Given the description of an element on the screen output the (x, y) to click on. 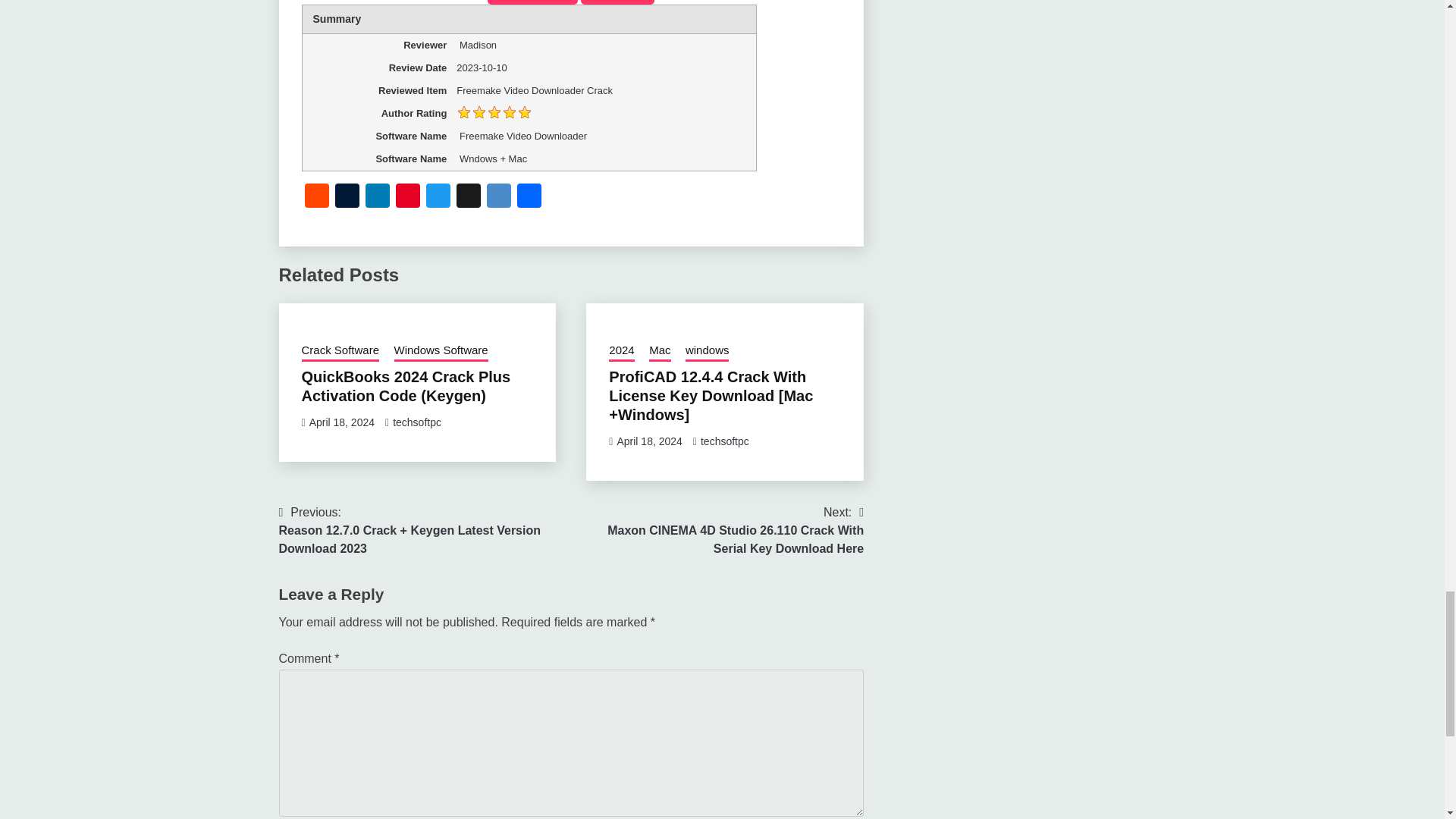
Digg (467, 197)
Pinterest (408, 197)
Windows Software (440, 351)
Crack Software (340, 351)
Twitter (437, 197)
Twitter (437, 197)
Digg (467, 197)
Tumblr (346, 197)
Diigo (498, 197)
April 18, 2024 (341, 422)
LinkedIn (377, 197)
Pinterest (408, 197)
Diigo (498, 197)
Reddit (316, 197)
Tumblr (346, 197)
